Given the description of an element on the screen output the (x, y) to click on. 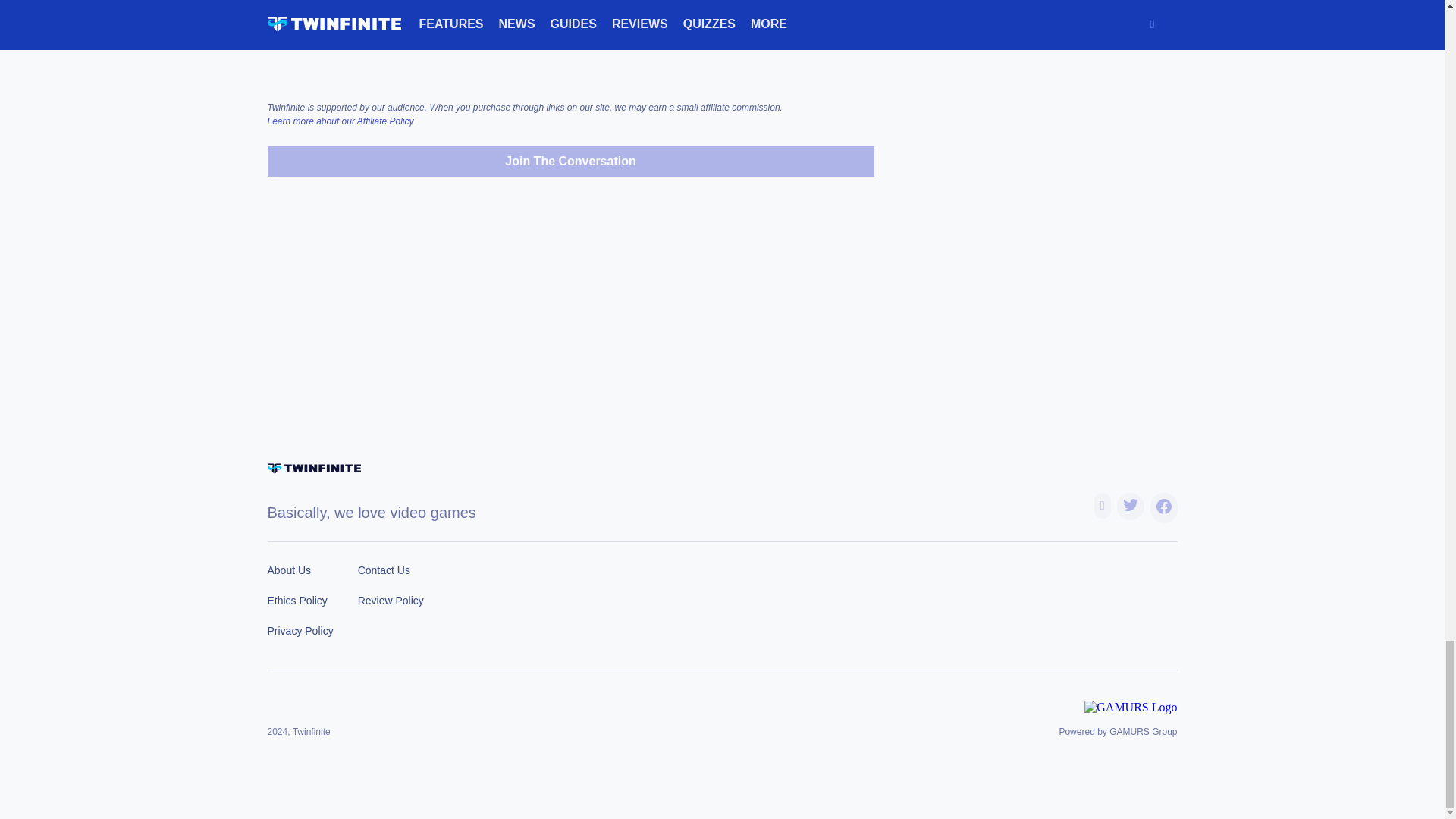
Join The Conversation (569, 161)
